Given the description of an element on the screen output the (x, y) to click on. 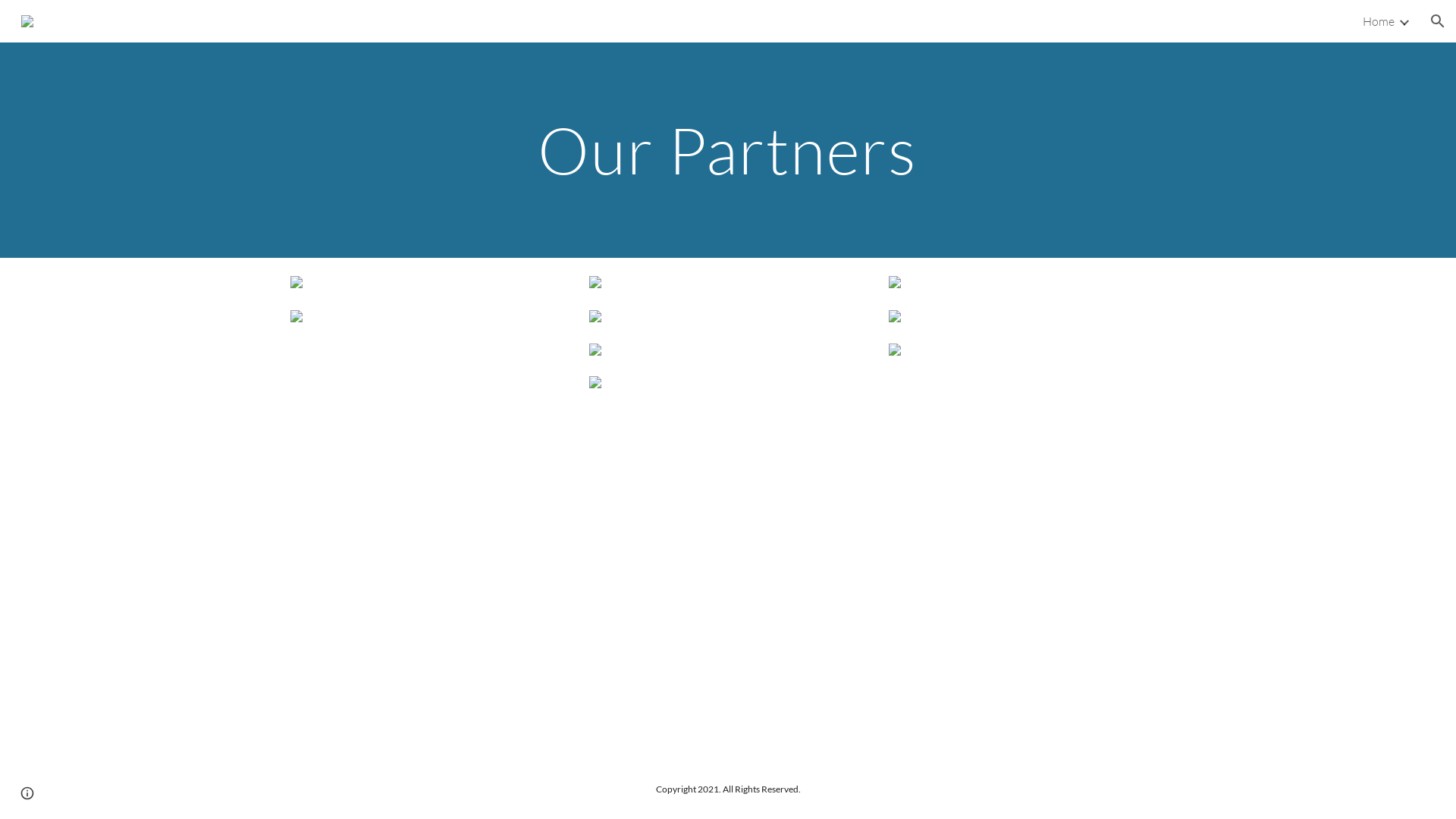
Expand/Collapse Element type: hover (1403, 20)
Home Element type: text (1378, 20)
